Given the description of an element on the screen output the (x, y) to click on. 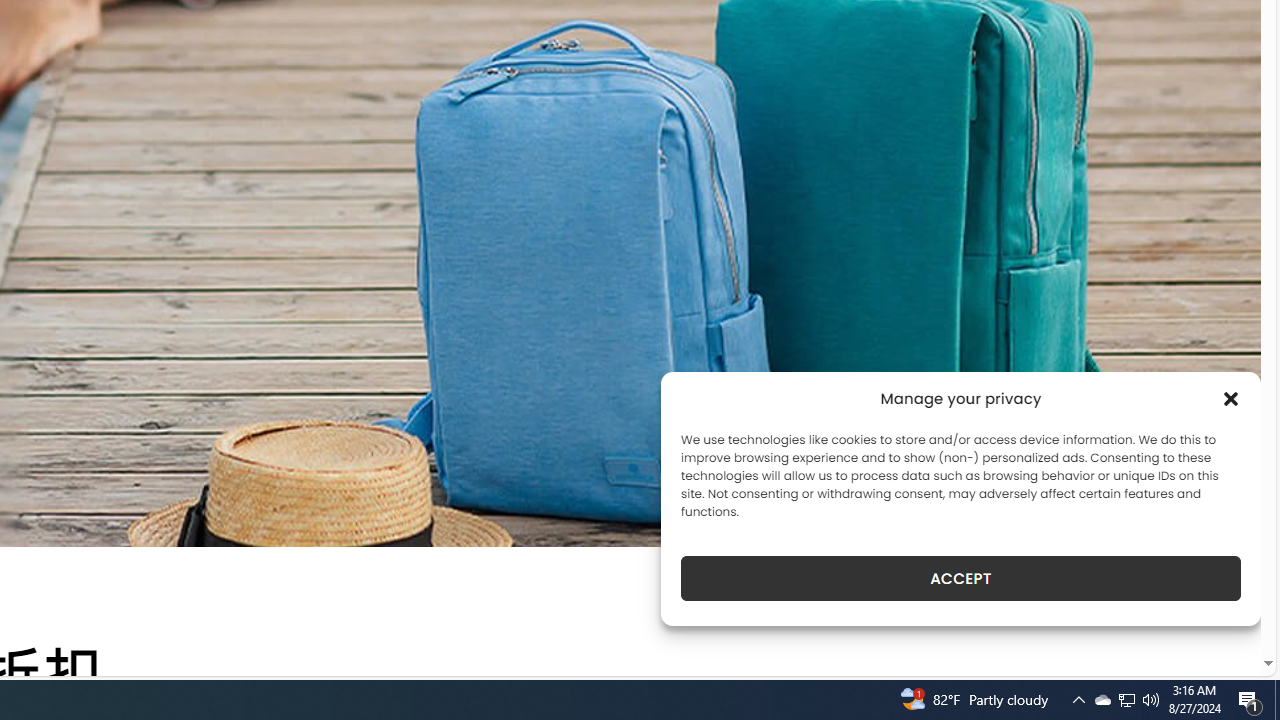
Class: cmplz-close (1231, 398)
ACCEPT (960, 578)
